Given the description of an element on the screen output the (x, y) to click on. 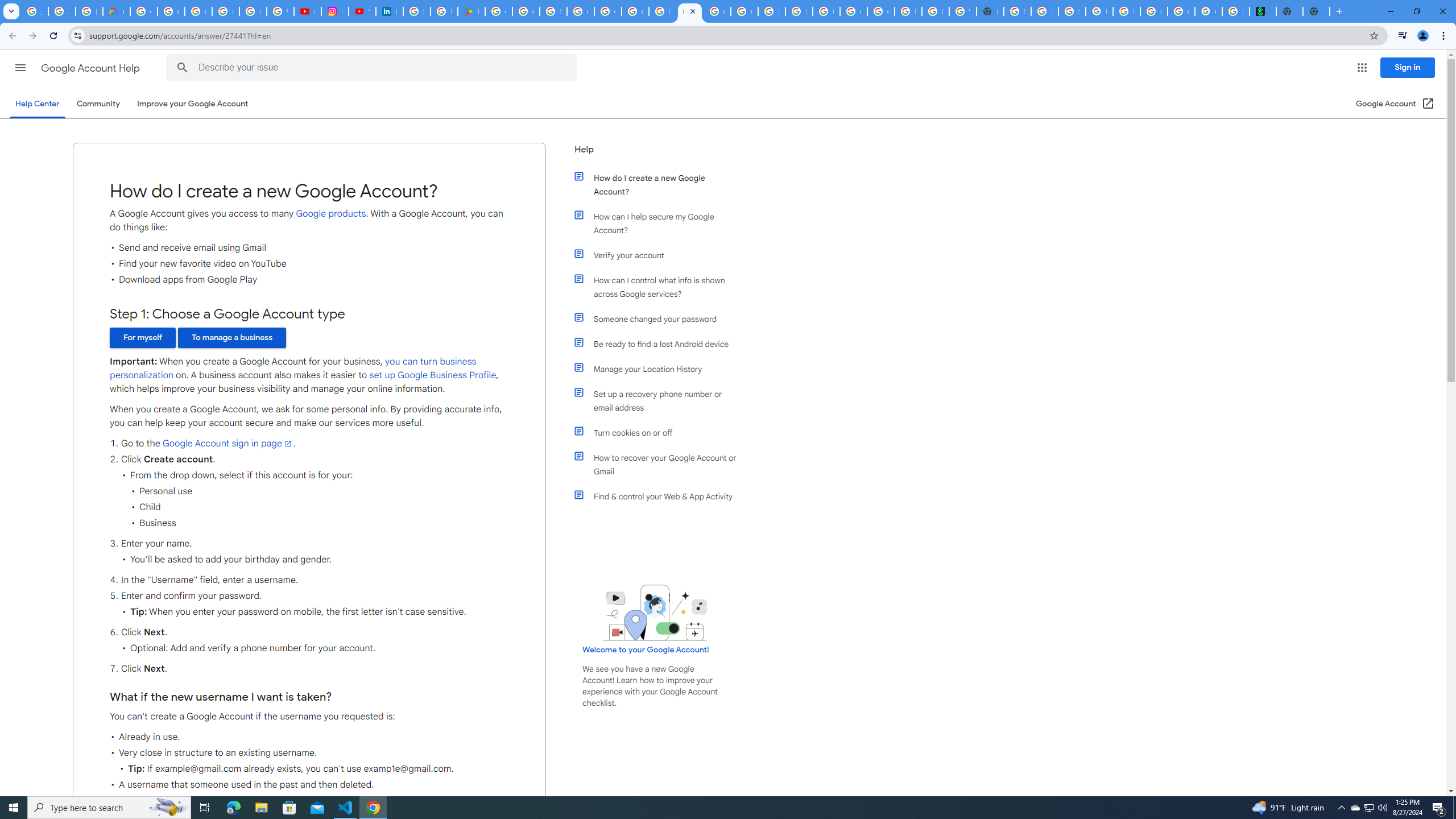
Describe your issue (373, 67)
Address and search bar (725, 35)
Improve your Google Account (192, 103)
Google Account Help (91, 68)
Google Account sign in page (227, 443)
Google Cloud Platform (880, 11)
Browse Chrome as a guest - Computer - Google Chrome Help (908, 11)
Identity verification via Persona | LinkedIn Help (389, 11)
Privacy Help Center - Policies Help (253, 11)
Sign in (1407, 67)
Verify your account (661, 255)
